Given the description of an element on the screen output the (x, y) to click on. 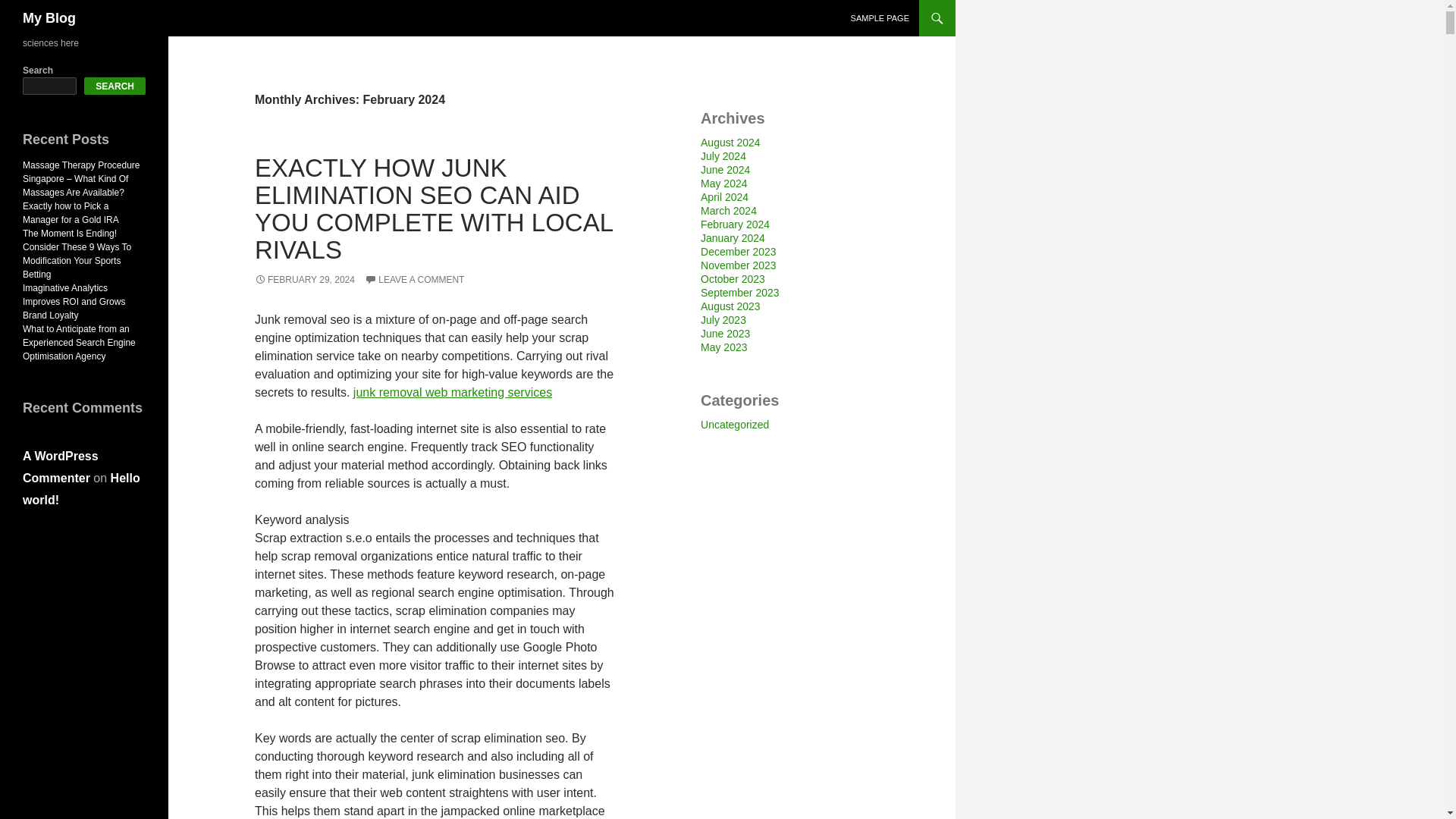
junk removal web marketing services (452, 391)
SAMPLE PAGE (879, 18)
My Blog (49, 18)
FEBRUARY 29, 2024 (304, 279)
LEAVE A COMMENT (414, 279)
